Given the description of an element on the screen output the (x, y) to click on. 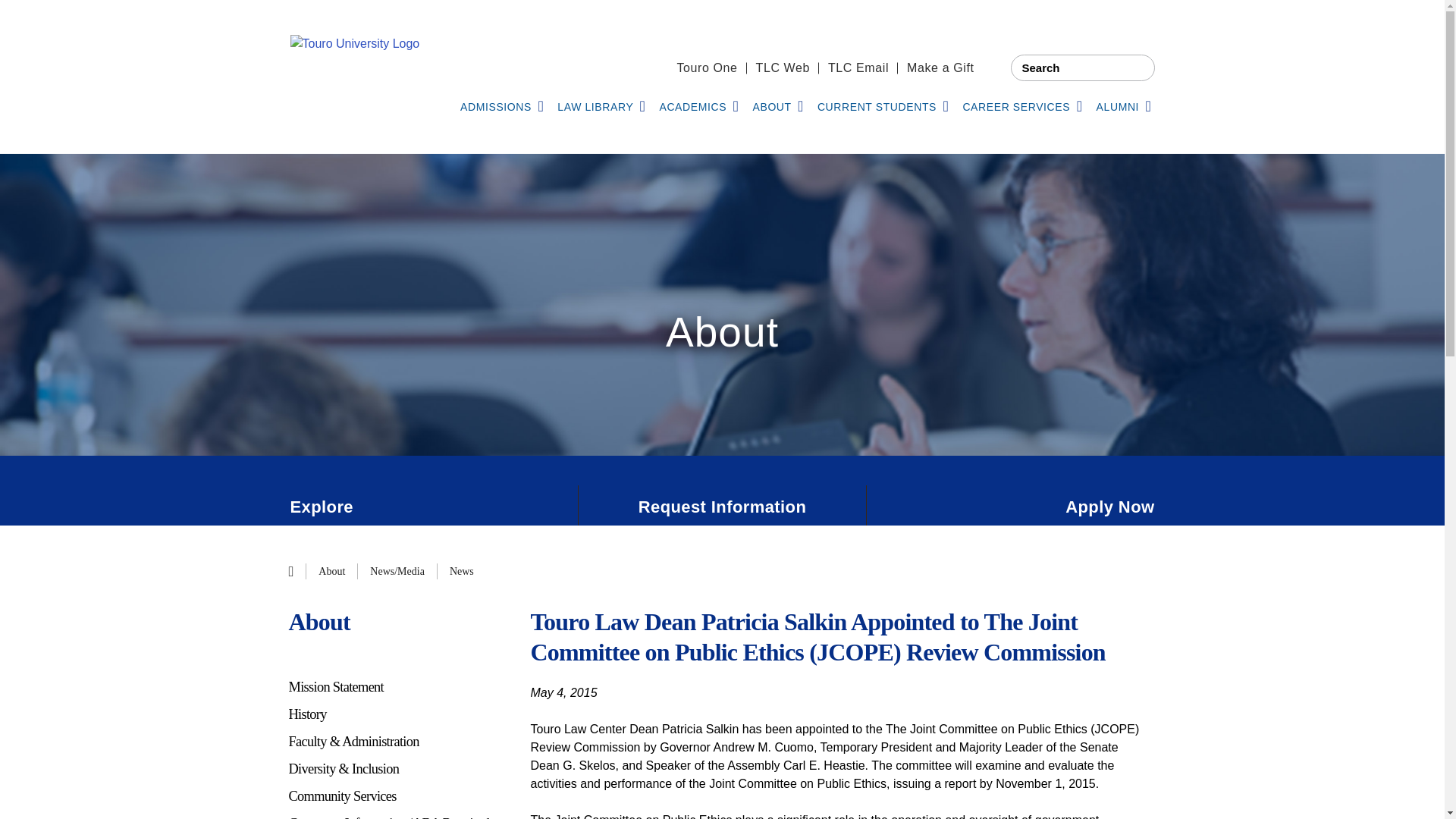
Link to News (461, 571)
ADMISSIONS (501, 107)
TLC Email (858, 68)
Link to History (396, 714)
Explore (432, 506)
TLC Web (782, 68)
LAW LIBRARY (601, 107)
Link to Make a Gift (940, 68)
Touro One (706, 68)
ACADEMICS (698, 107)
Search Button (1136, 67)
Link to Mission Statement (396, 687)
Link to About (331, 571)
Link to TLC Email (858, 68)
Link to Touro One Header (706, 68)
